Given the description of an element on the screen output the (x, y) to click on. 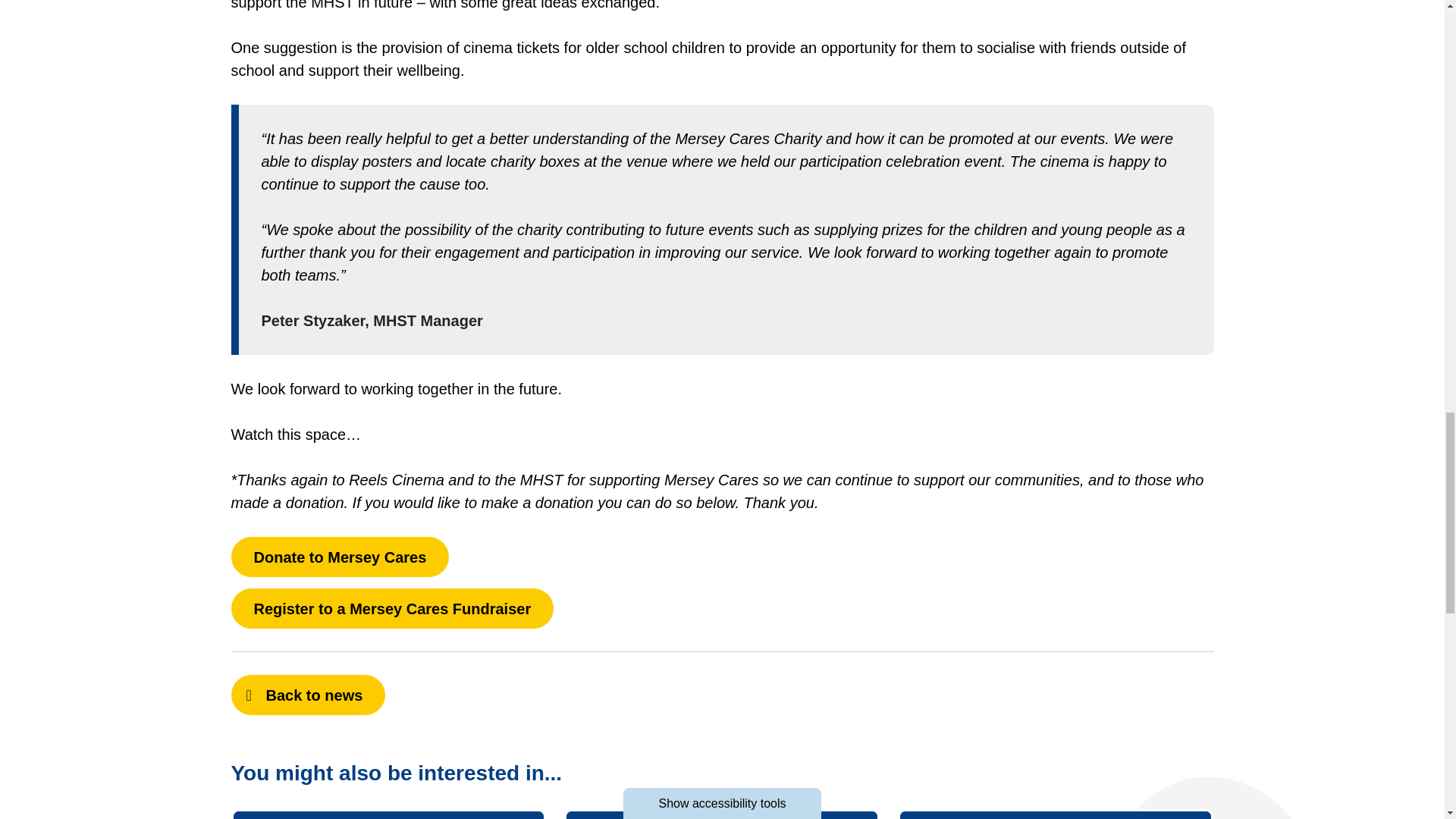
Host your own fundraiser (721, 814)
Our Zero Suicide Alliance appeal (388, 814)
Back to News (307, 694)
What we've made possible (1055, 814)
